Given the description of an element on the screen output the (x, y) to click on. 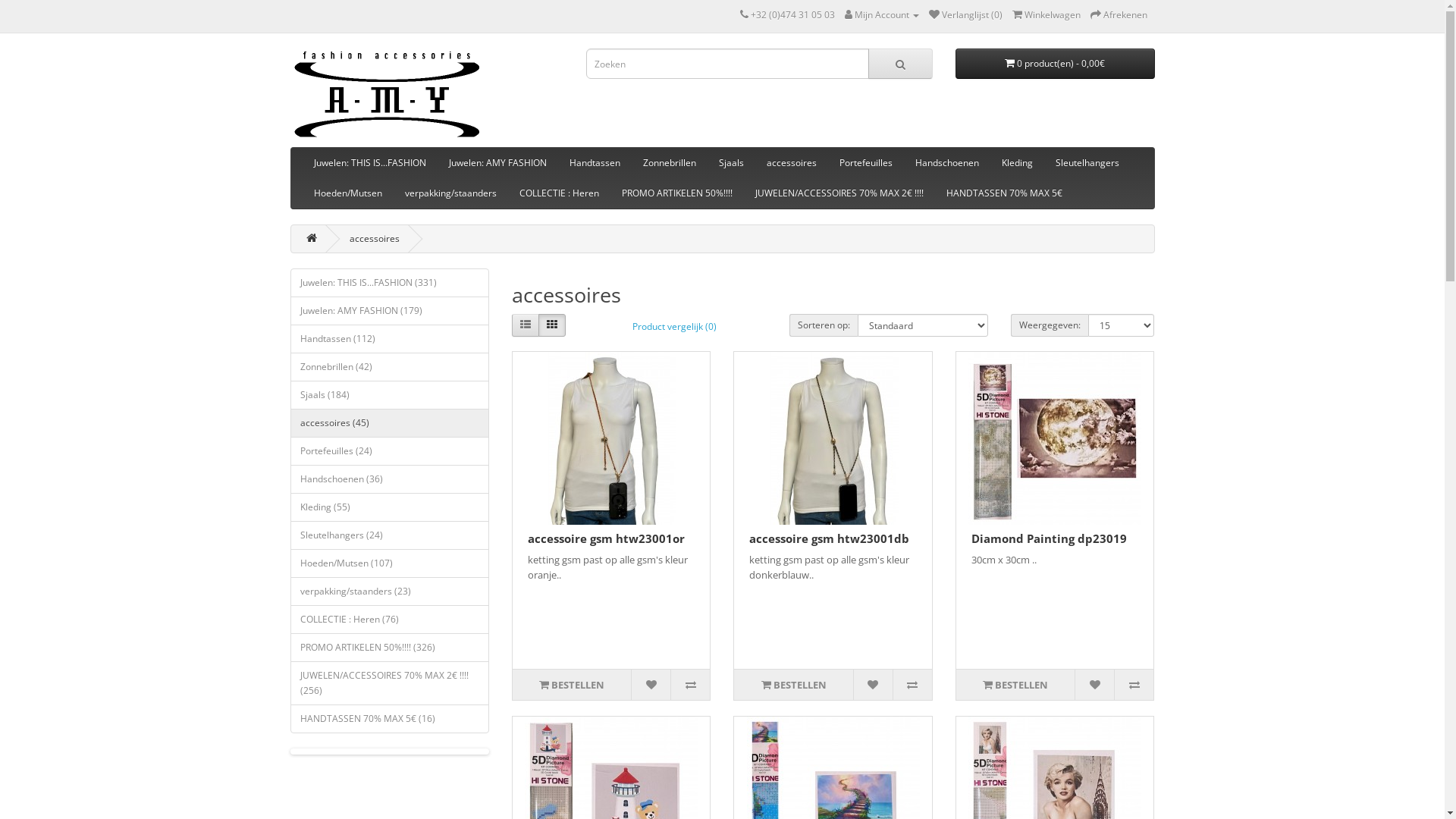
Juwelen: AMY FASHION Element type: text (496, 162)
accessoire gsm htw23001db Element type: hover (832, 437)
Winkelwagen Element type: text (1045, 14)
Diamond Painting dp23019 Element type: text (1048, 538)
Handtassen (112) Element type: text (389, 338)
Product vergelijk (0) Element type: text (674, 326)
PROMO ARTIKELEN 50%!!!! Element type: text (676, 193)
Kleding (55) Element type: text (389, 506)
BESTELLEN Element type: text (793, 684)
Juwelen: THIS IS...FASHION Element type: text (368, 162)
Sleutelhangers (24) Element type: text (389, 534)
BESTELLEN Element type: text (571, 684)
COLLECTIE : Heren (76) Element type: text (389, 619)
Portefeuilles Element type: text (865, 162)
Juwelen: THIS IS...FASHION (331) Element type: text (389, 282)
Hoeden/Mutsen Element type: text (346, 193)
Sjaals (184) Element type: text (389, 394)
Verlanglijst (0) Element type: text (964, 14)
accessoires Element type: text (373, 238)
accessoire gsm htw23001or Element type: text (605, 538)
accessoires (45) Element type: text (389, 422)
accessoire gsm htw23001db Element type: text (829, 538)
Portefeuilles (24) Element type: text (389, 450)
Juwelen: AMY FASHION (179) Element type: text (389, 310)
BESTELLEN Element type: text (1015, 684)
Diamond Painting dp23019 Element type: hover (1054, 437)
Handschoenen Element type: text (946, 162)
accessoire gsm htw23001or Element type: hover (610, 437)
verpakking/staanders Element type: text (449, 193)
COLLECTIE : Heren Element type: text (559, 193)
Zonnebrillen (42) Element type: text (389, 366)
Kleding Element type: text (1017, 162)
Mijn Account Element type: text (881, 14)
Zonnebrillen Element type: text (668, 162)
verpakking/staanders (23) Element type: text (389, 591)
PROMO ARTIKELEN 50%!!!! (326) Element type: text (389, 647)
AMY Fashion Element type: hover (385, 93)
Sleutelhangers Element type: text (1086, 162)
Sjaals Element type: text (730, 162)
Afrekenen Element type: text (1118, 14)
accessoires Element type: text (791, 162)
Handtassen Element type: text (594, 162)
Handschoenen (36) Element type: text (389, 478)
Hoeden/Mutsen (107) Element type: text (389, 563)
